Given the description of an element on the screen output the (x, y) to click on. 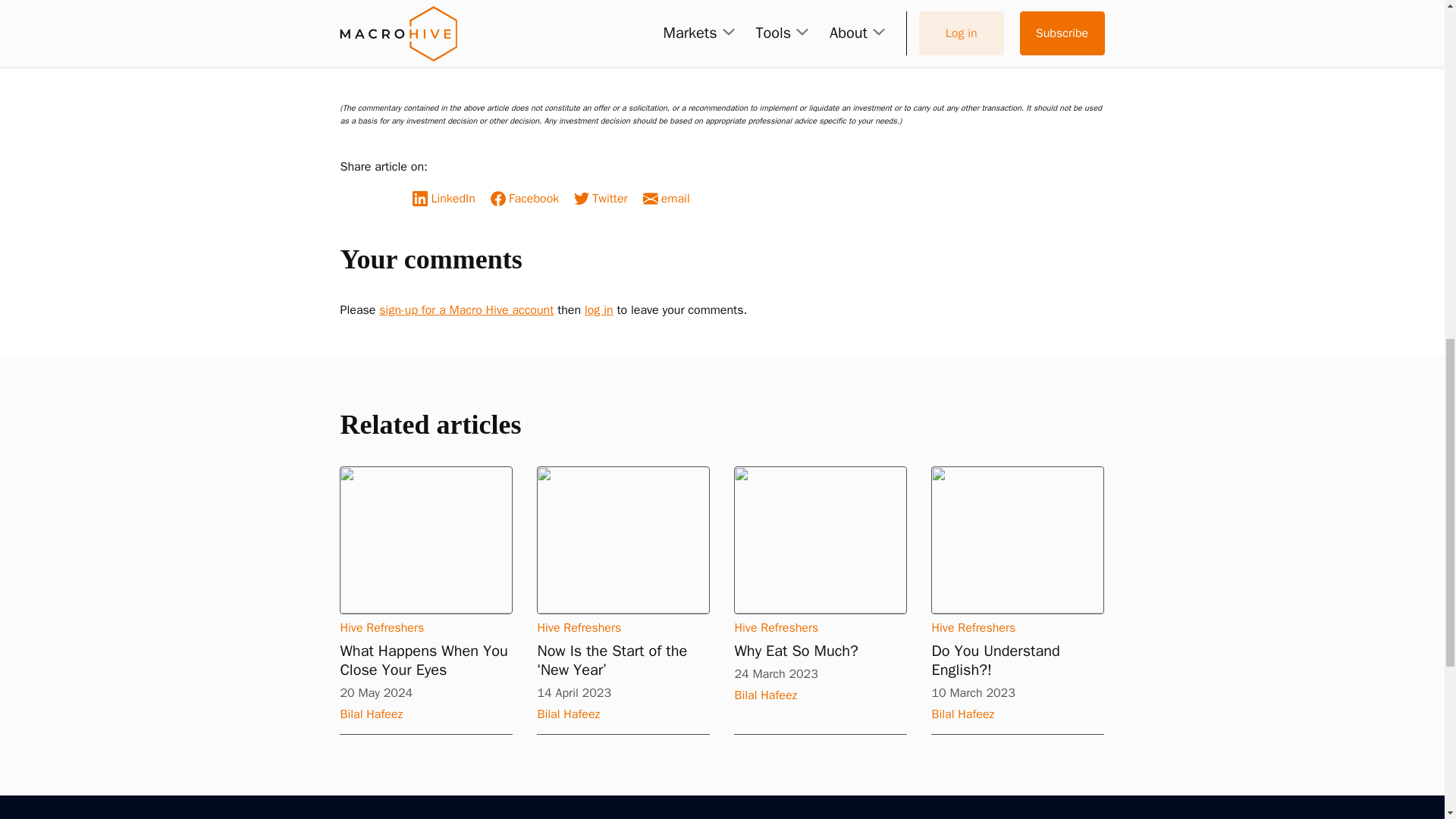
log in (598, 309)
LinkedIn (447, 199)
sign-up for a Macro Hive account (465, 309)
depositphotos.com (422, 57)
Bilal Hafeez (360, 8)
Bilal Hafeez (425, 713)
Facebook (528, 199)
email (670, 199)
Twitter (604, 199)
